Given the description of an element on the screen output the (x, y) to click on. 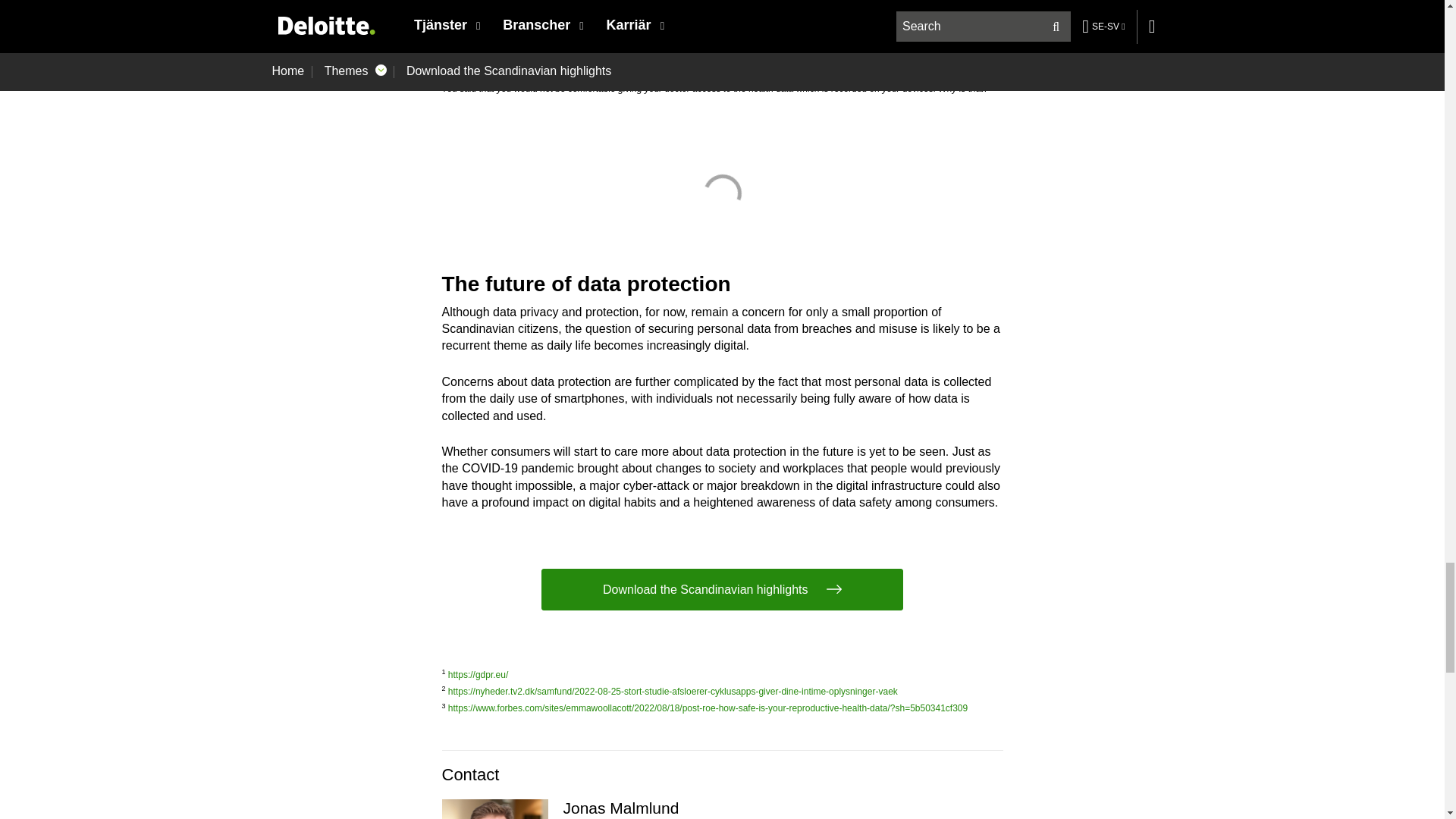
4.45 - Reasons for not sharing health data with doctor (722, 193)
